Given the description of an element on the screen output the (x, y) to click on. 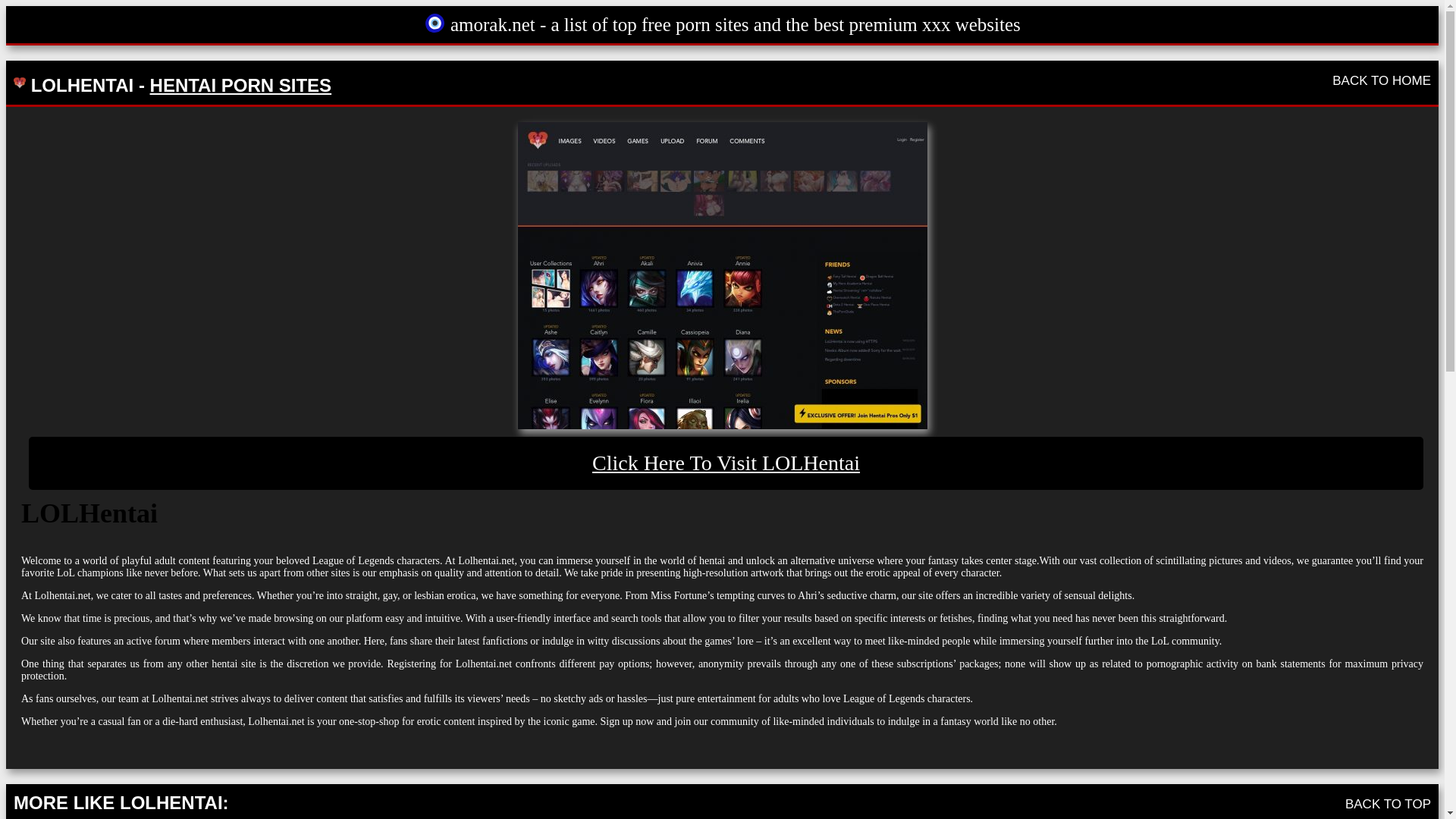
BACK TO TOP (1388, 803)
LOLHentai (726, 462)
BACK TO HOME (1381, 79)
Click Here To Visit LOLHentai (726, 462)
LOLHentai (721, 274)
HENTAI PORN SITES (240, 84)
